Given the description of an element on the screen output the (x, y) to click on. 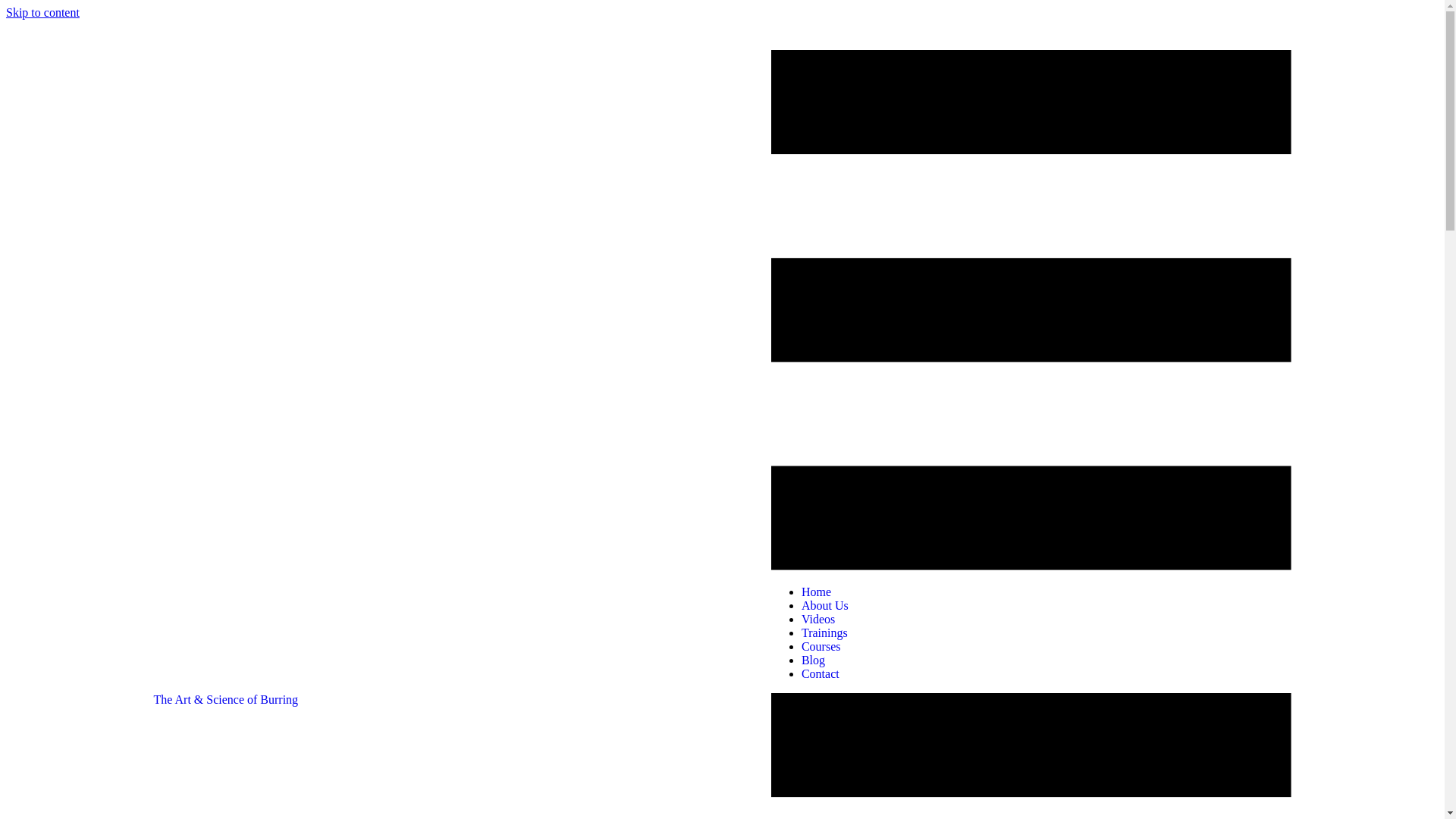
Courses (821, 645)
Videos (818, 618)
Trainings (824, 632)
Contact (821, 673)
Skip to content (42, 11)
Blog  (815, 659)
About Us (825, 604)
Home (816, 591)
